Given the description of an element on the screen output the (x, y) to click on. 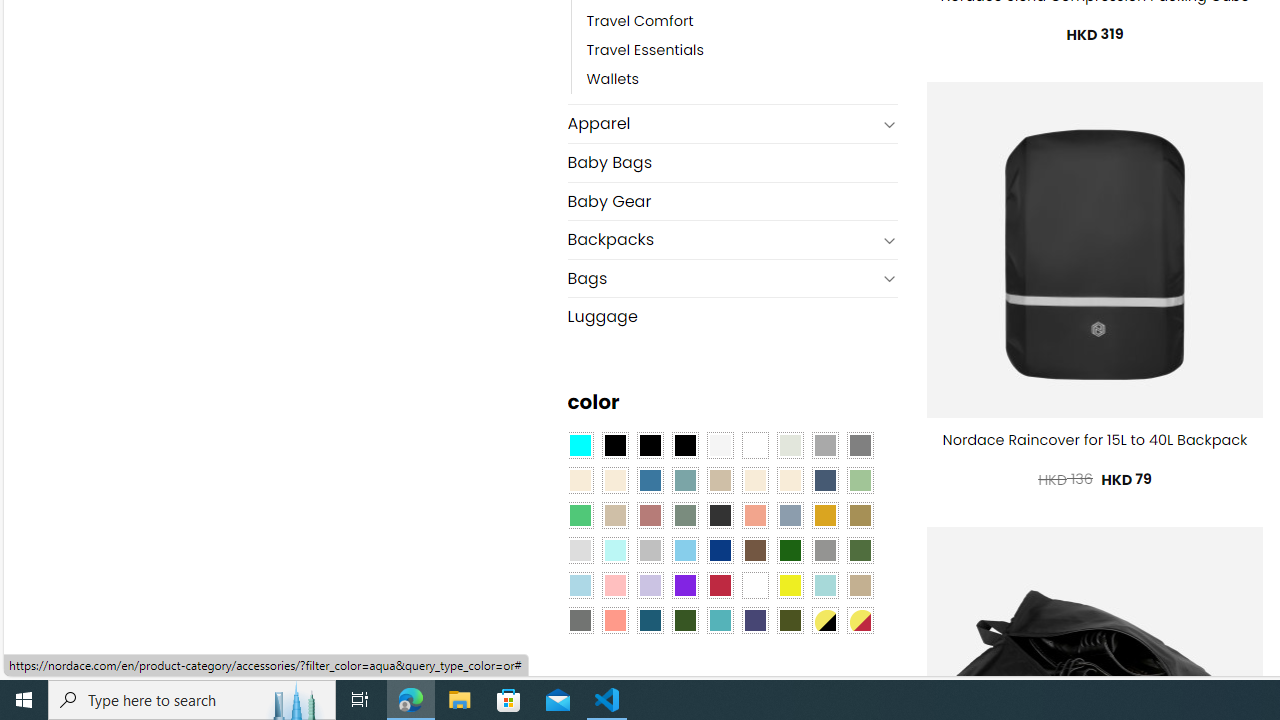
Baby Bags (732, 162)
Luggage (732, 316)
Baby Gear (732, 201)
White (755, 584)
Coral (755, 514)
Light Taupe (614, 514)
Beige (579, 480)
Teal (719, 619)
Wallets (742, 79)
Brown (755, 550)
Blue Sage (684, 480)
Hale Navy (824, 480)
Sky Blue (684, 550)
Rose (650, 514)
